Given the description of an element on the screen output the (x, y) to click on. 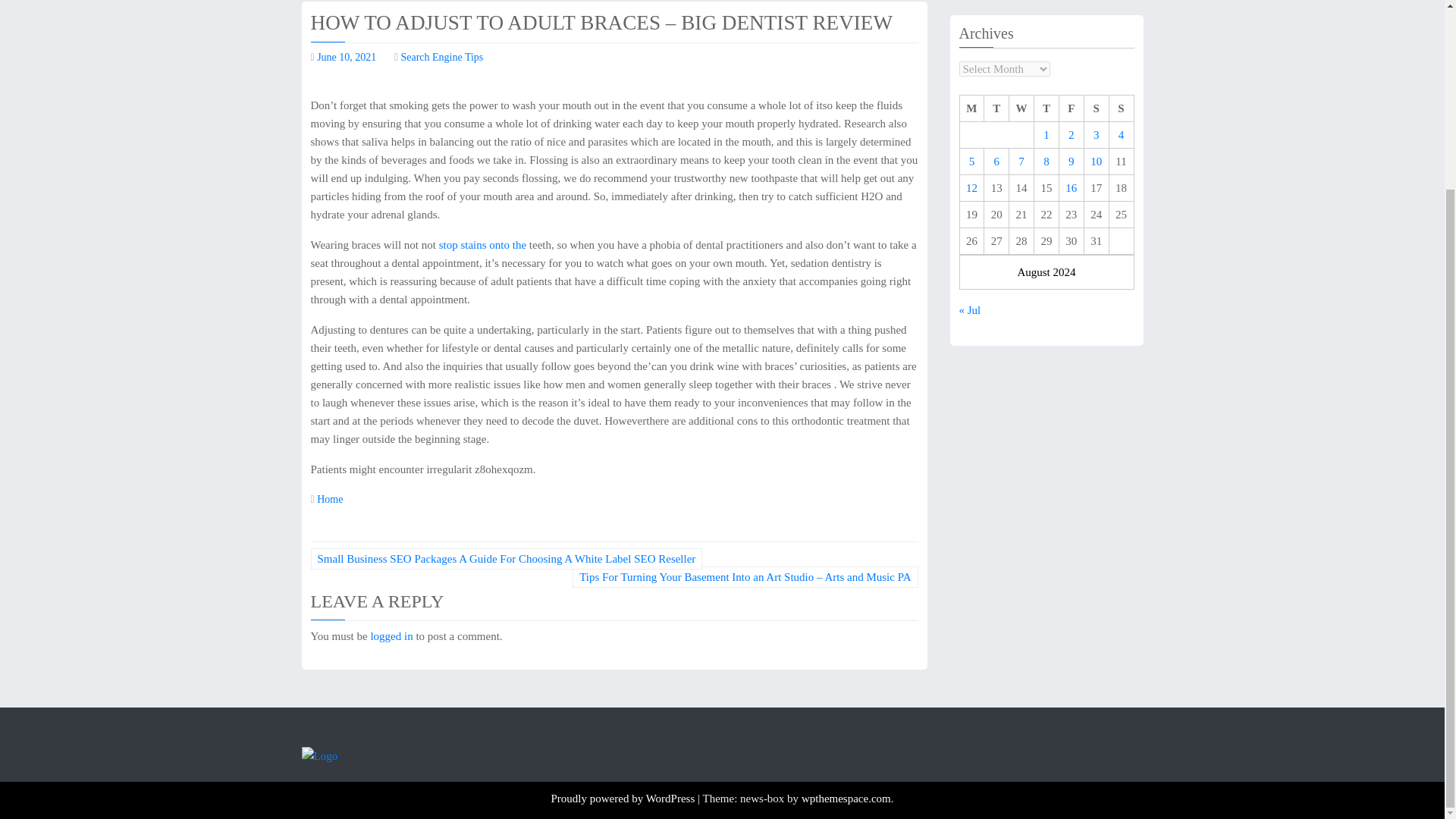
Tuesday (996, 94)
stop stains onto the (482, 244)
Saturday (1095, 94)
Thursday (1046, 94)
logged in (390, 635)
16 (1071, 174)
12 (971, 174)
June 10, 2021 (346, 57)
Friday (1070, 94)
